Given the description of an element on the screen output the (x, y) to click on. 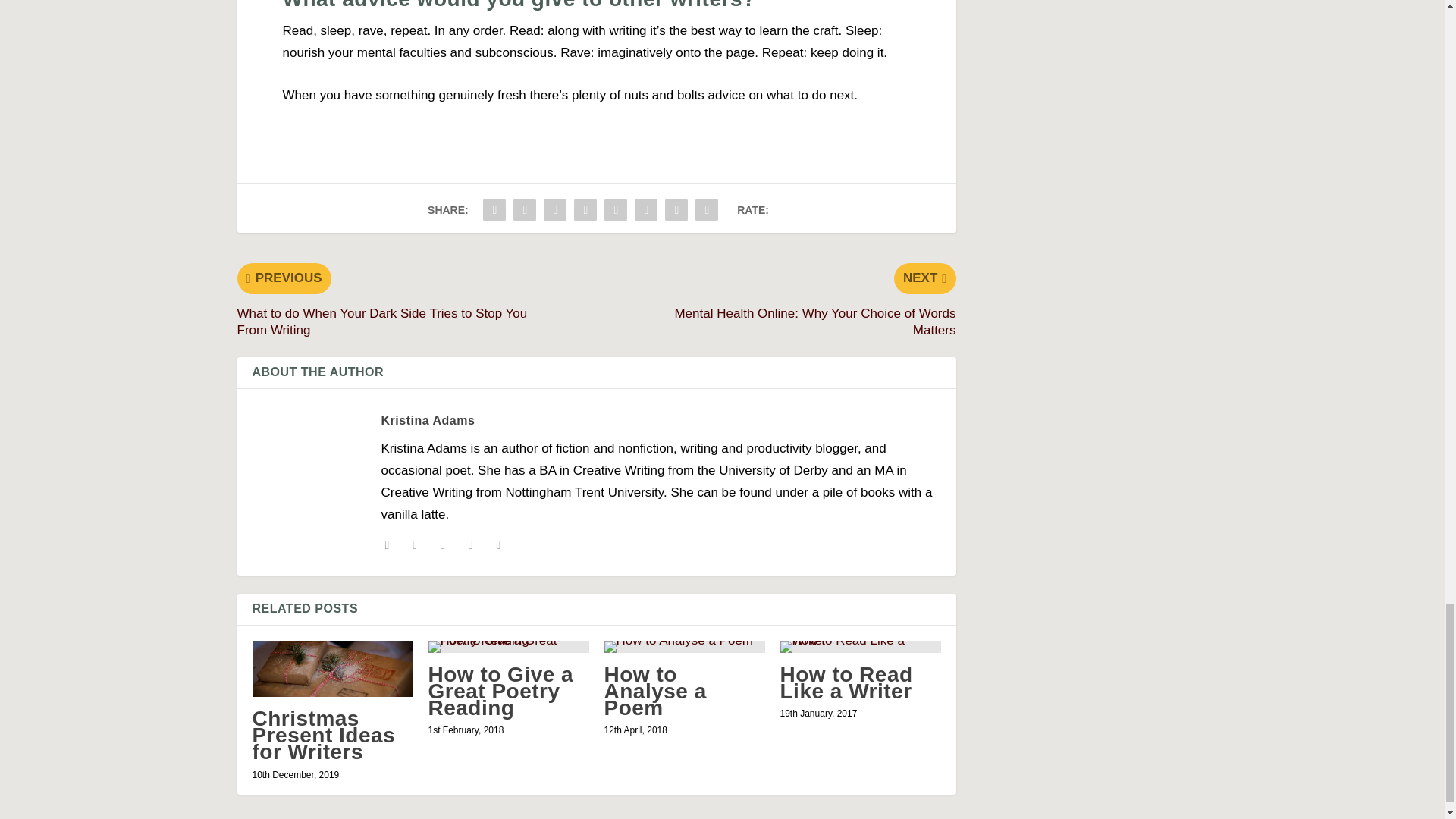
How to Give a Great Poetry Reading (508, 646)
Share "Interview With Ana Salote" via Buffer (645, 209)
Share "Interview With Ana Salote" via Tumblr (555, 209)
Share "Interview With Ana Salote" via Email (706, 209)
Share "Interview With Ana Salote" via Pinterest (584, 209)
Share "Interview With Ana Salote" via LinkedIn (614, 209)
Share "Interview With Ana Salote" via Twitter (524, 209)
Share "Interview With Ana Salote" via Facebook (494, 209)
Christmas Present Ideas for Writers (331, 668)
How to Analyse a Poem (684, 646)
